Given the description of an element on the screen output the (x, y) to click on. 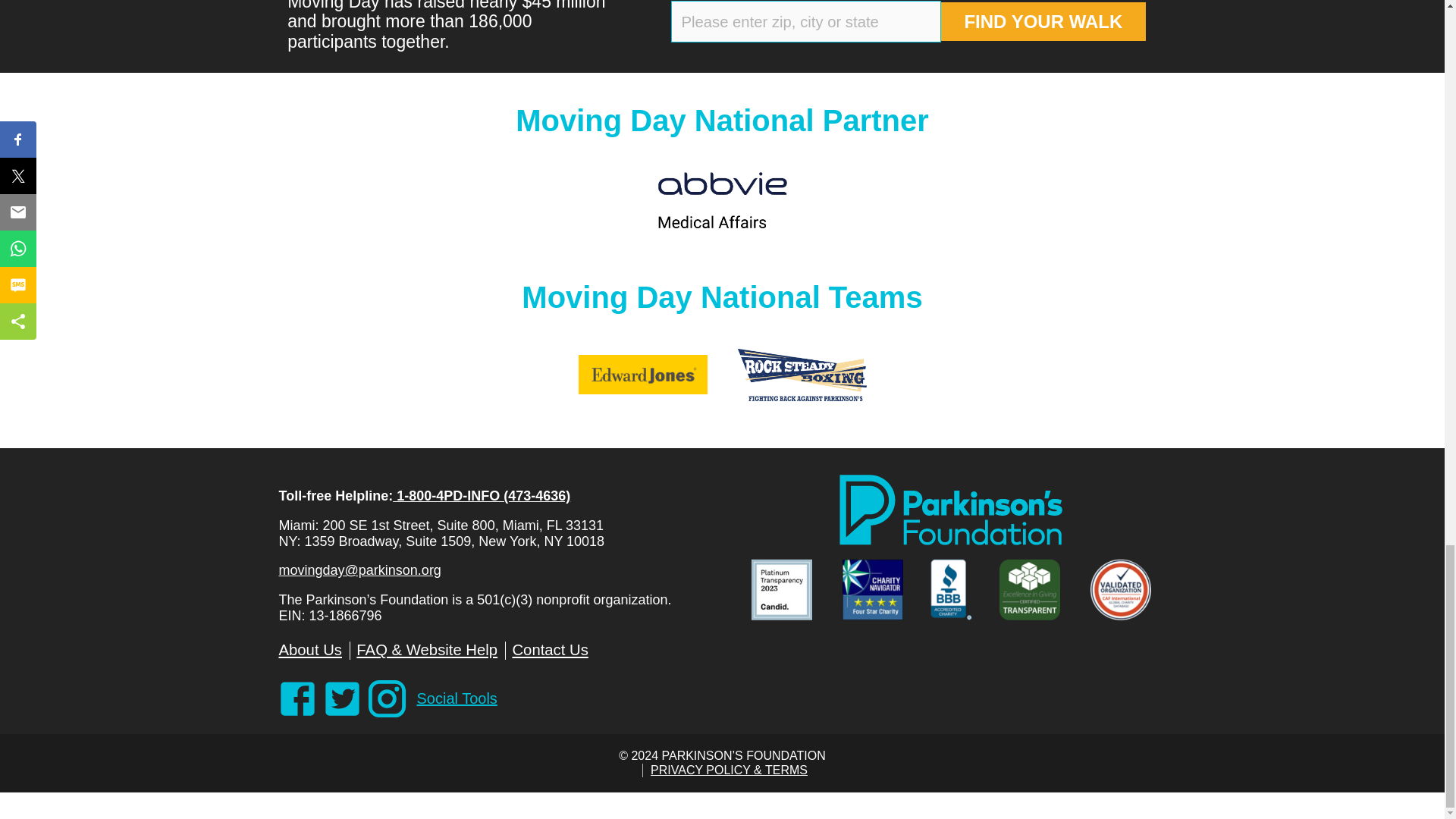
Parkinson National Foundation Associate (879, 599)
RSB Logo (801, 377)
Edward-Jones-logo (642, 374)
Parkinson National Foundation Associate (1036, 599)
Abbvie-logo (722, 202)
Contact Us (550, 650)
Social Tools (456, 698)
Abbvie-logo (722, 199)
Parkinson National Foundation Associate (949, 513)
FIND YOUR WALK (1042, 21)
About Us (310, 650)
Parkinson National Foundation Associate (1128, 599)
Edward-Jones-logo (642, 377)
RSB Logo (801, 374)
Parkinson National Foundation Associate (789, 599)
